Given the description of an element on the screen output the (x, y) to click on. 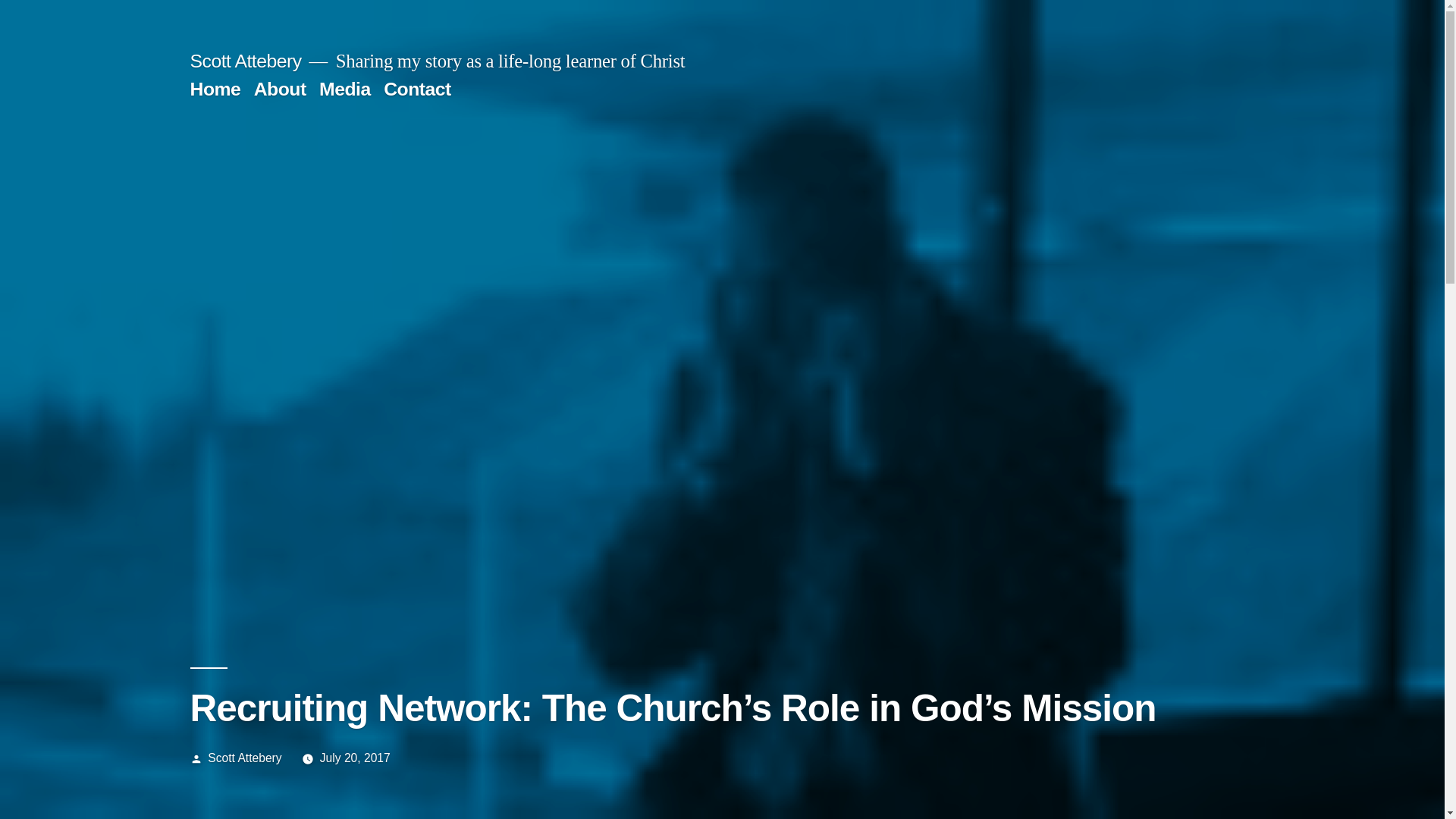
About (279, 88)
Scott Attebery (245, 60)
Media (344, 88)
July 20, 2017 (355, 757)
Contact (417, 88)
Scott Attebery (244, 757)
Home (214, 88)
